Given the description of an element on the screen output the (x, y) to click on. 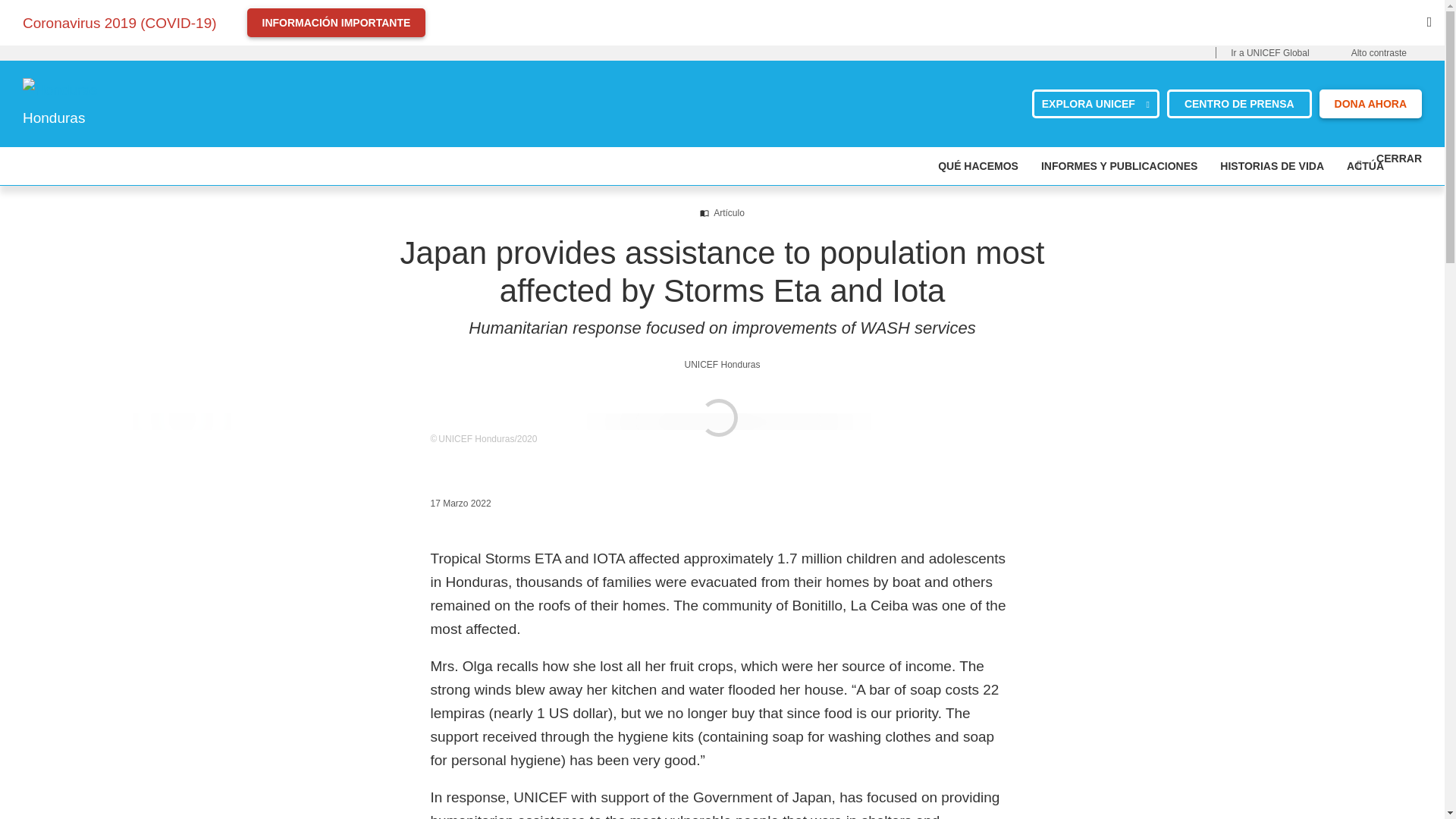
Ok (1428, 777)
INFORMES Y PUBLICACIONES (1118, 174)
Alto contraste (1394, 52)
EXPLORA UNICEF (1095, 109)
CENTRO DE PRENSA (1239, 109)
UNICEF (196, 94)
Ir a UNICEF Global (1284, 52)
EXPLORA UNICEF (1095, 109)
Honduras (196, 95)
